Given the description of an element on the screen output the (x, y) to click on. 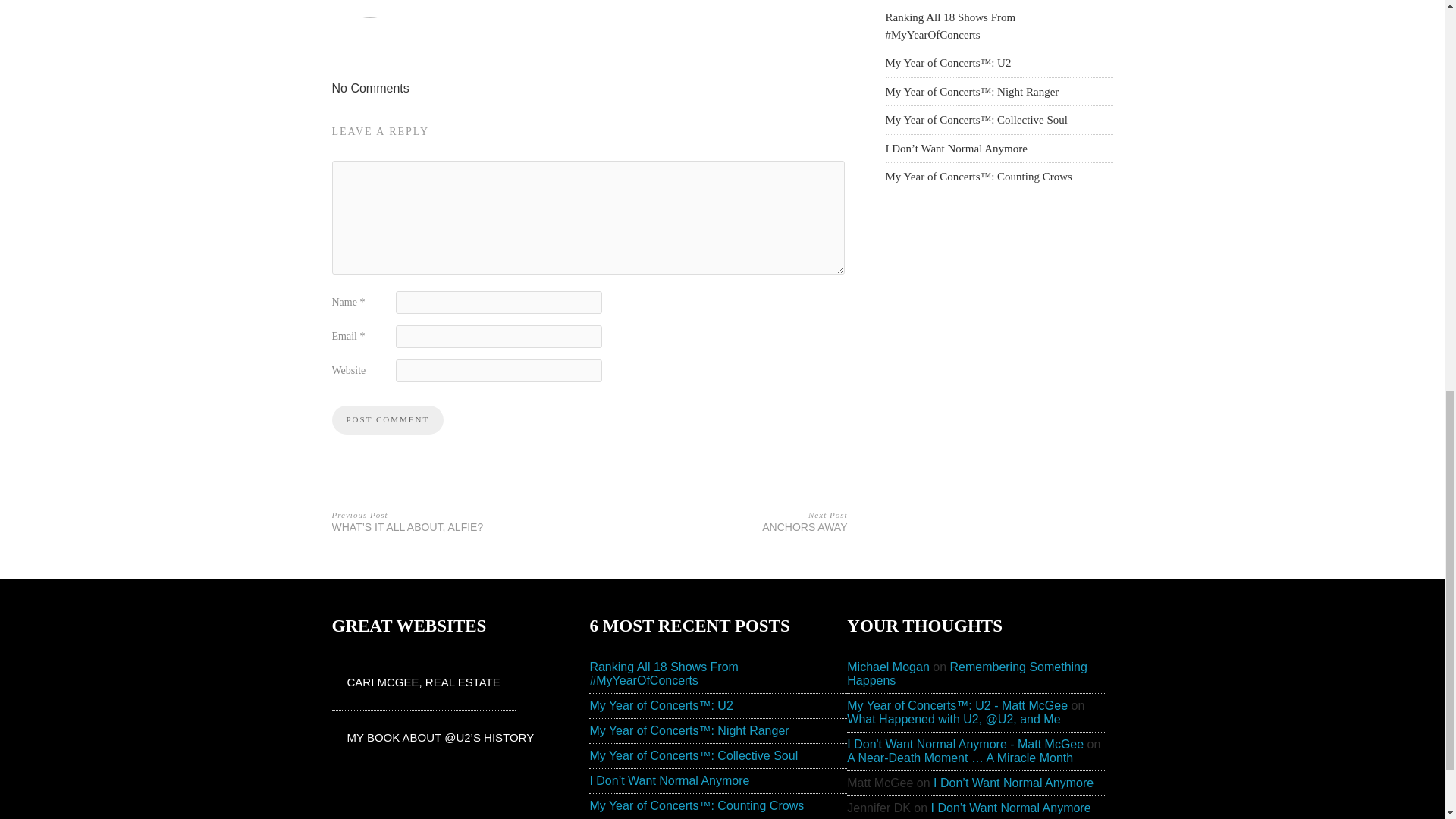
Remembering Something Happens (967, 673)
Post Comment (387, 419)
Michael Mogan (888, 666)
CARI MCGEE, REAL ESTATE (423, 682)
Post Comment (387, 419)
I Don't Want Normal Anymore - Matt McGee (723, 519)
